Given the description of an element on the screen output the (x, y) to click on. 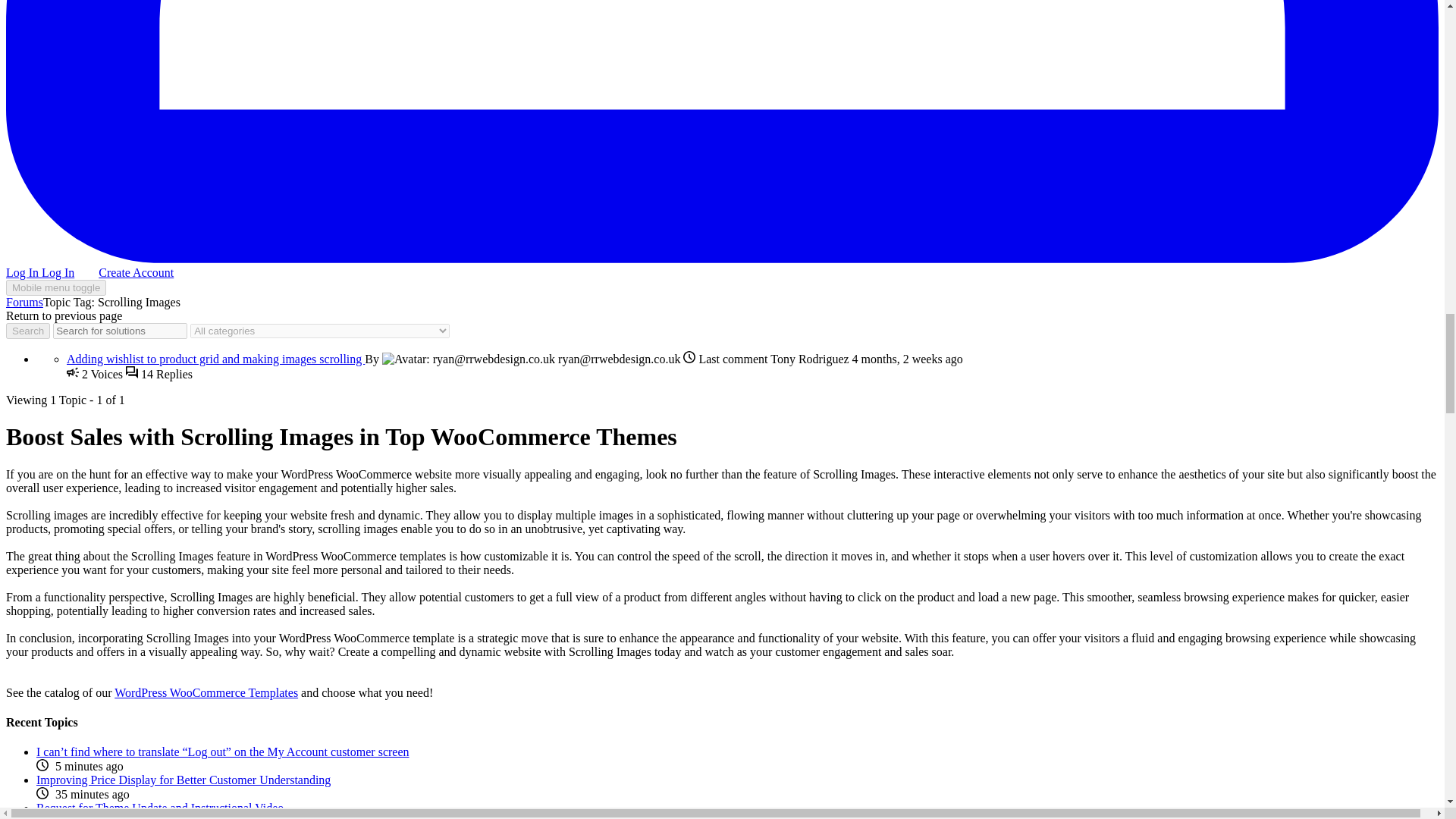
Search (27, 330)
